Given the description of an element on the screen output the (x, y) to click on. 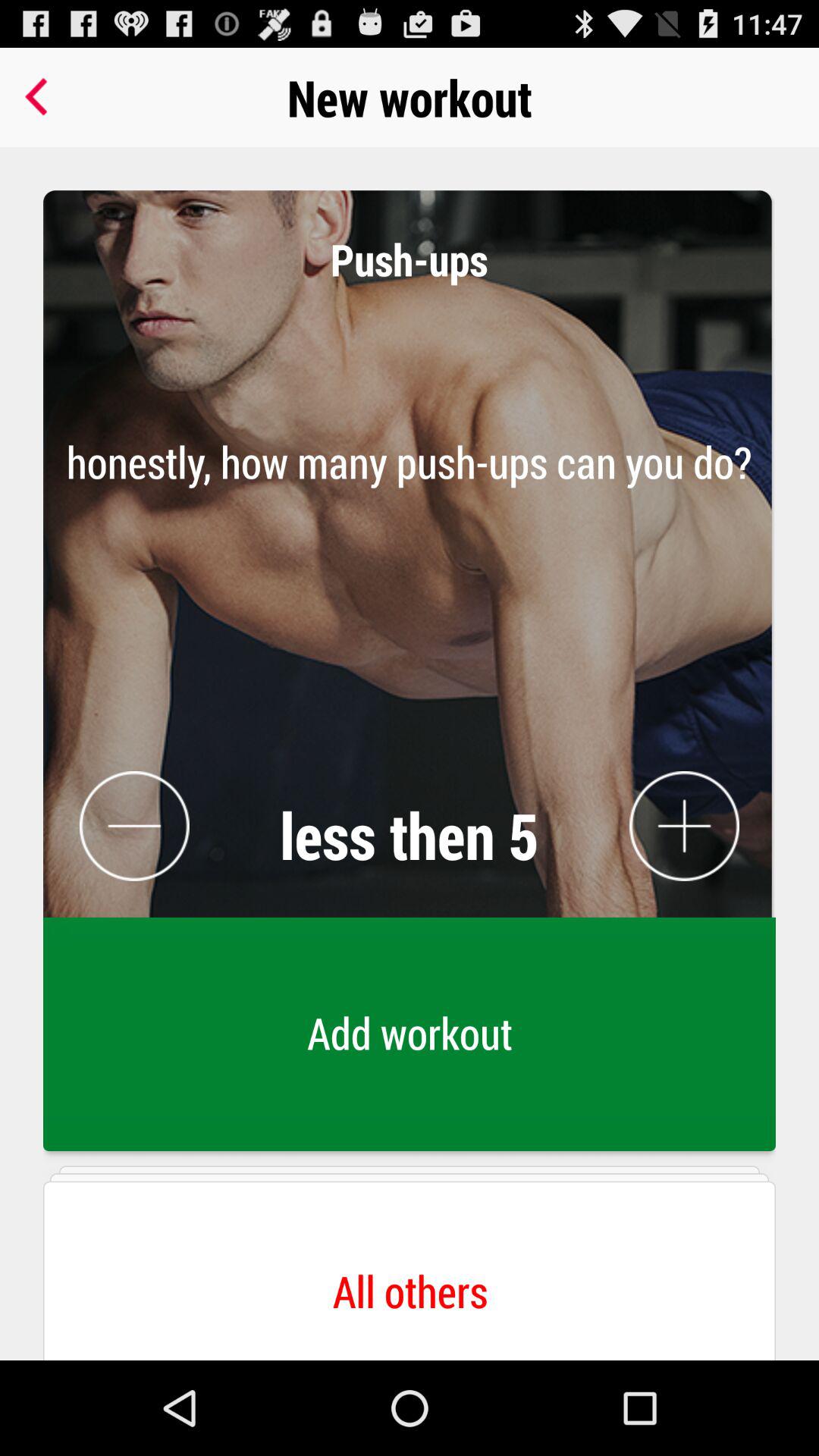
select the button above the all others item (409, 1038)
